Given the description of an element on the screen output the (x, y) to click on. 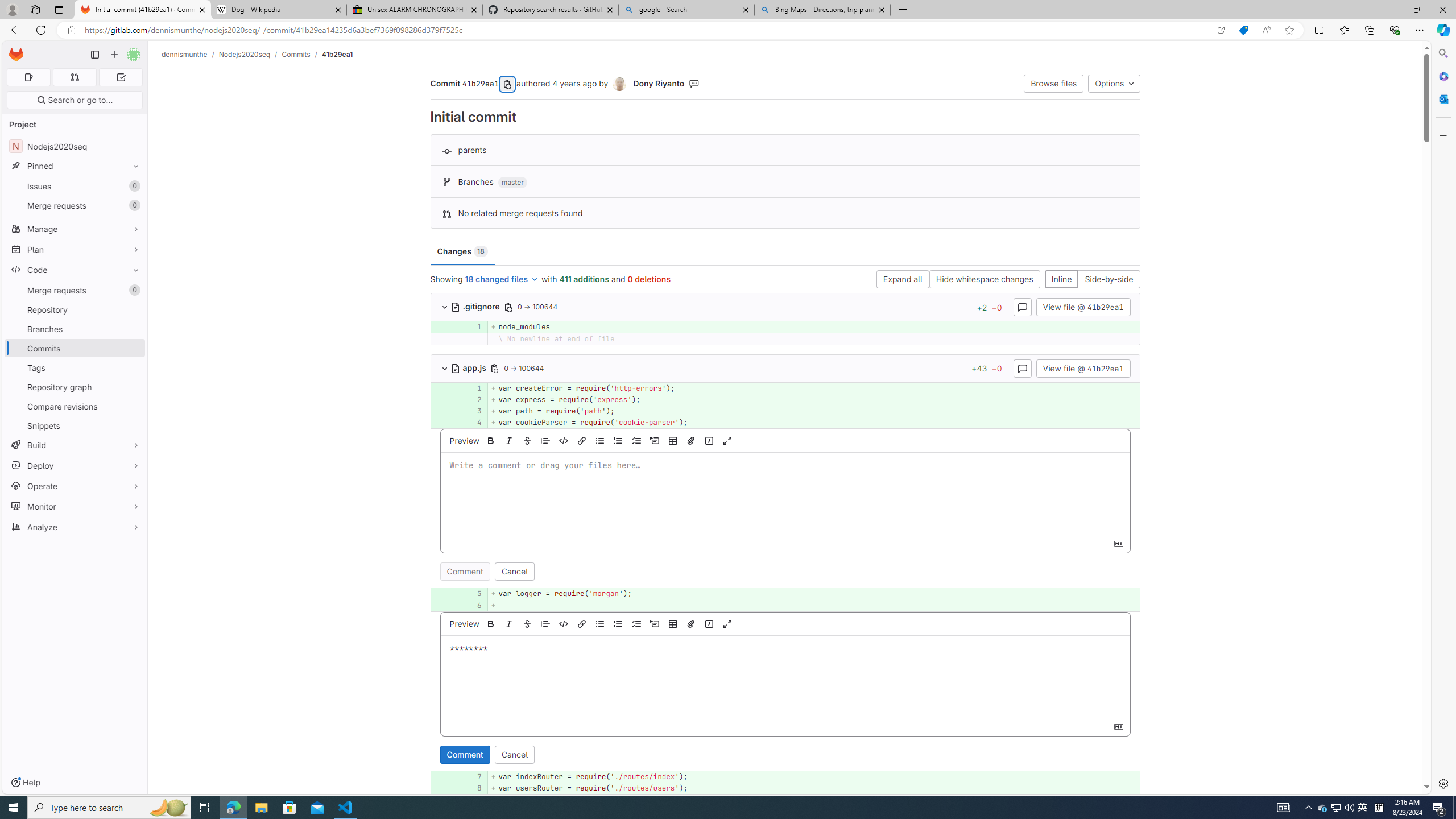
+ var indexRouter = require('./routes/index');  (813, 776)
Pin Compare revisions (132, 406)
AutomationID: 4a68969ef8e858229267b842dedf42ab5dde4d50_0_4 (785, 422)
6 (471, 605)
Issues0 (74, 185)
Snippets (74, 425)
4 (471, 422)
2 (472, 399)
Pin Snippets (132, 425)
Expand all (902, 279)
Plan (74, 248)
AutomationID: 4a68969ef8e858229267b842dedf42ab5dde4d50_0_5 (785, 594)
